Given the description of an element on the screen output the (x, y) to click on. 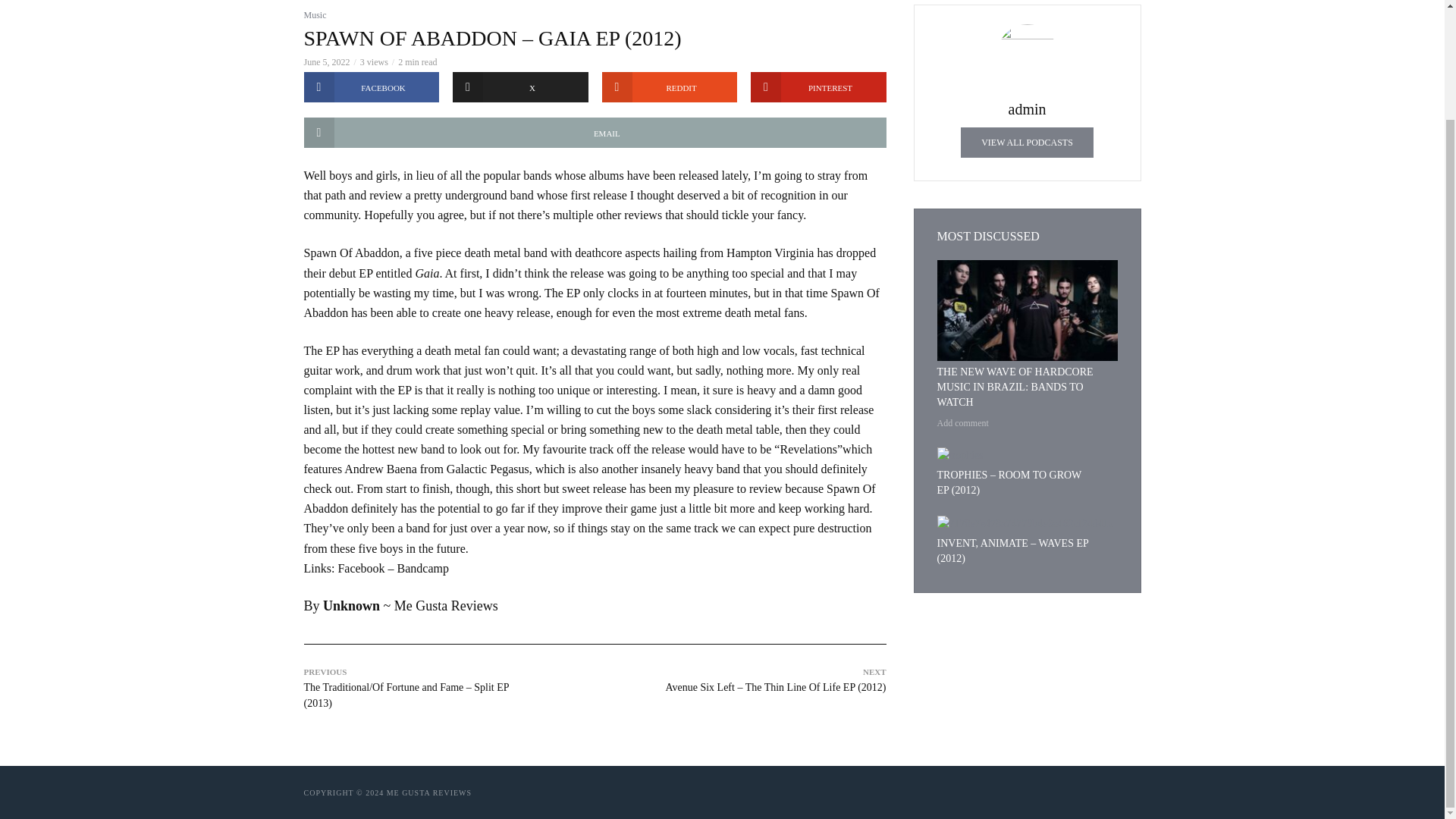
The New Wave of Hardcore Music in Brazil: Bands to Watch (1027, 310)
Music (314, 14)
FACEBOOK (370, 87)
